Given the description of an element on the screen output the (x, y) to click on. 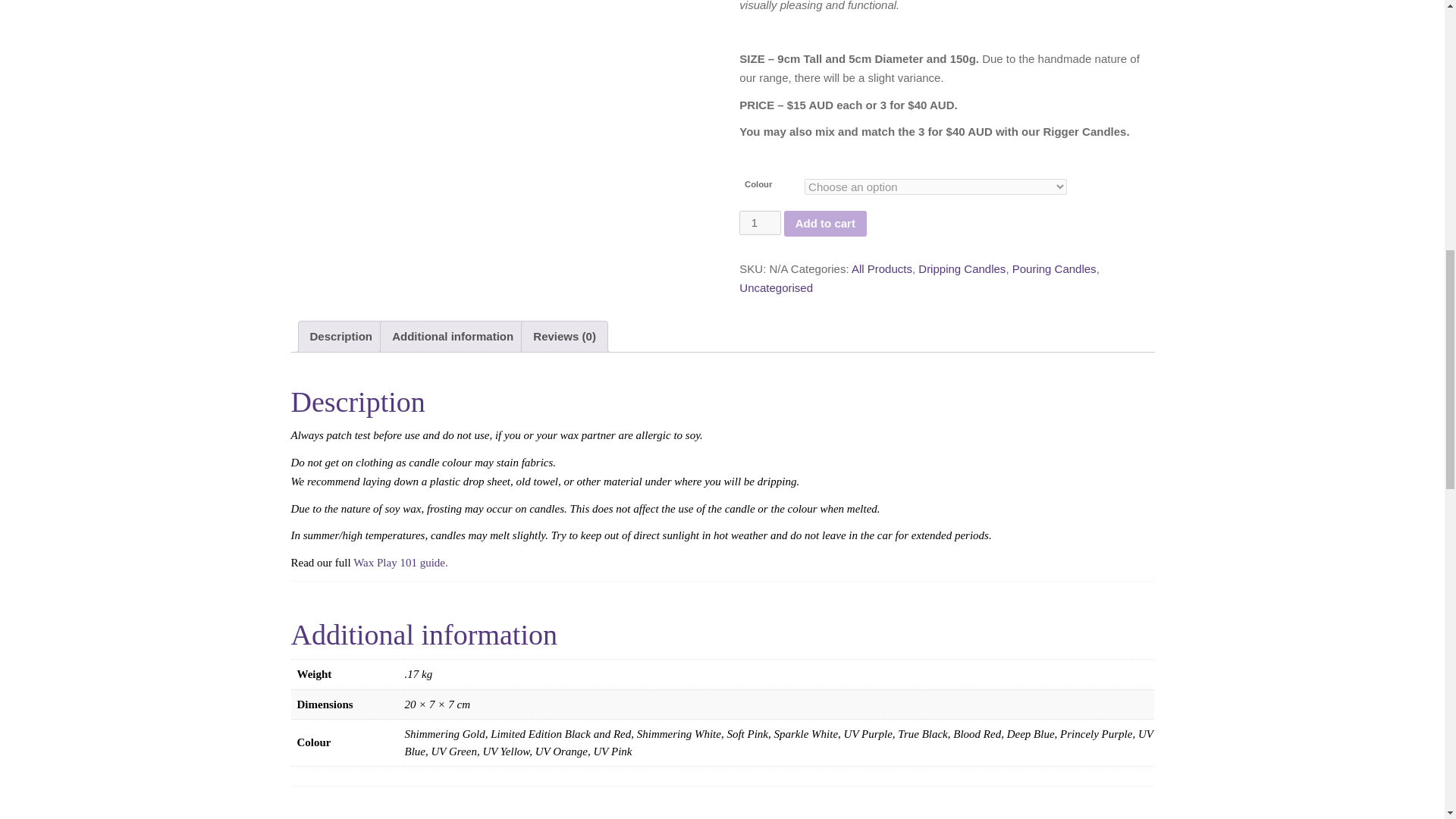
All Products (881, 268)
Wax Play 101 guide. (400, 562)
1 (759, 222)
Additional information (452, 336)
Dripping Candles (962, 268)
Pouring Candles (1053, 268)
Uncategorised (775, 287)
Add to cart (825, 223)
Description (340, 336)
